Given the description of an element on the screen output the (x, y) to click on. 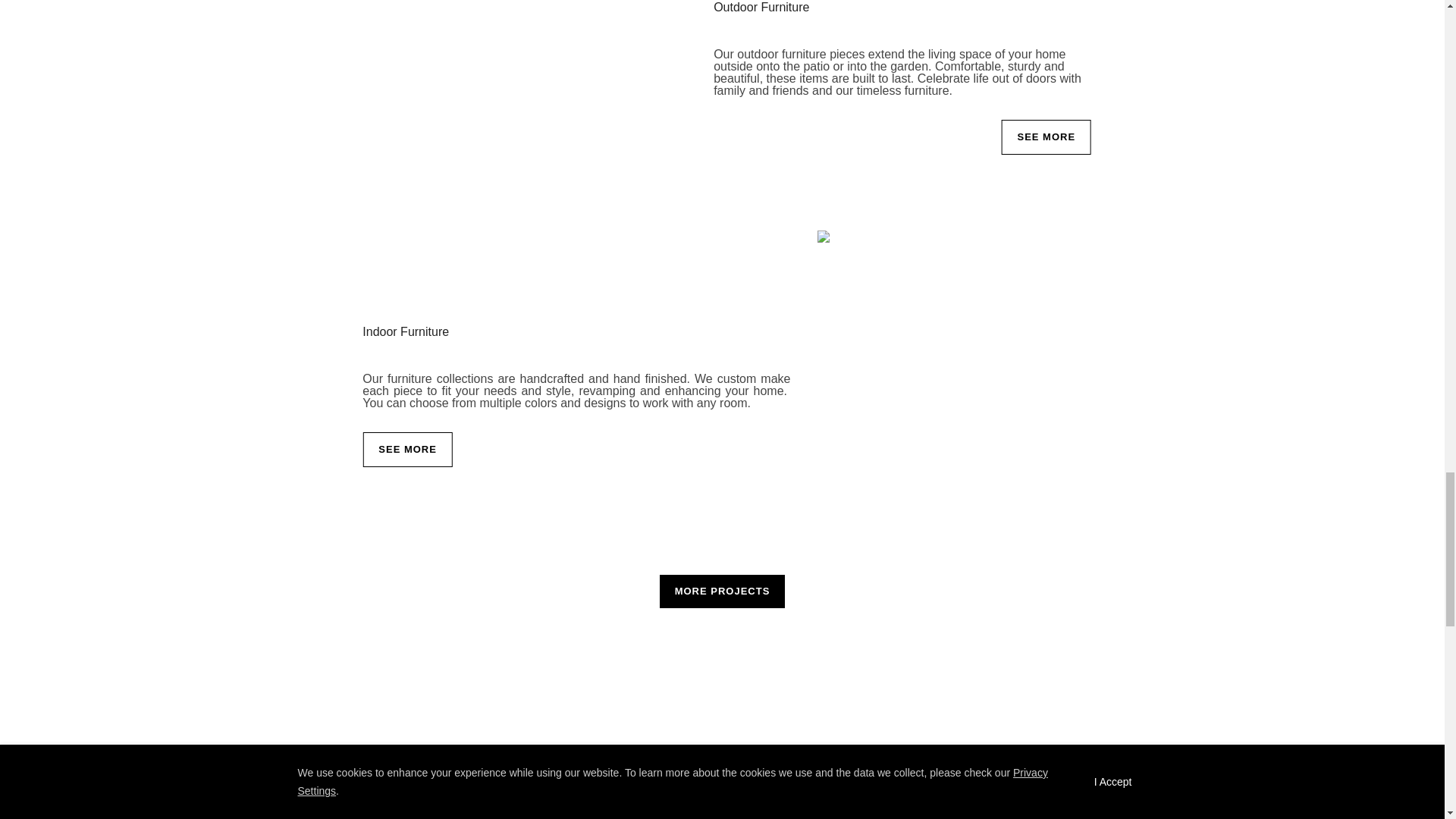
SEE MORE (1045, 136)
MORE PROJECTS (722, 591)
SEE MORE (407, 449)
